Given the description of an element on the screen output the (x, y) to click on. 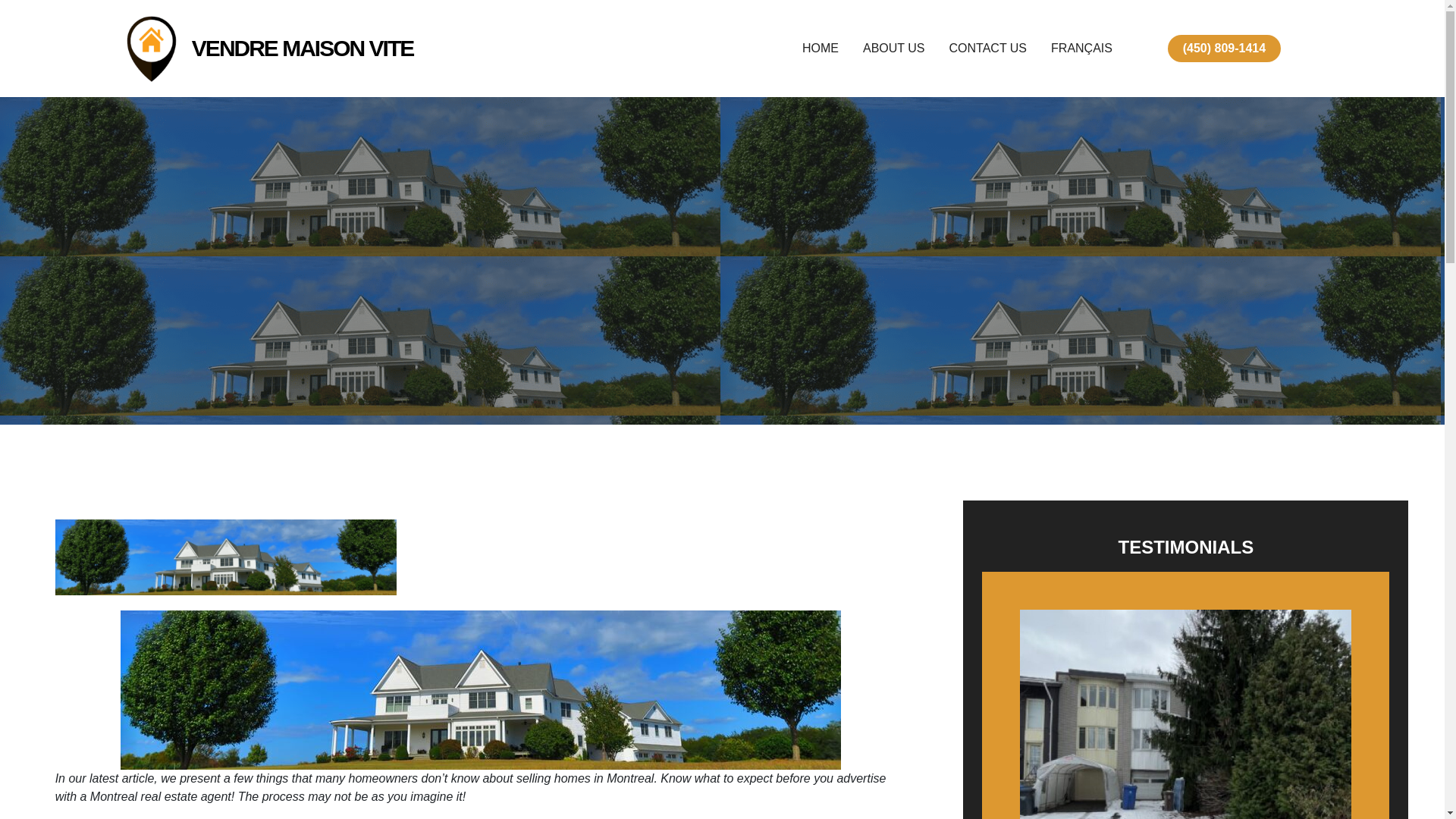
VENDRE MAISON VITE (302, 48)
ABOUT US (893, 47)
CONTACT US (988, 47)
HOME (820, 47)
